Given the description of an element on the screen output the (x, y) to click on. 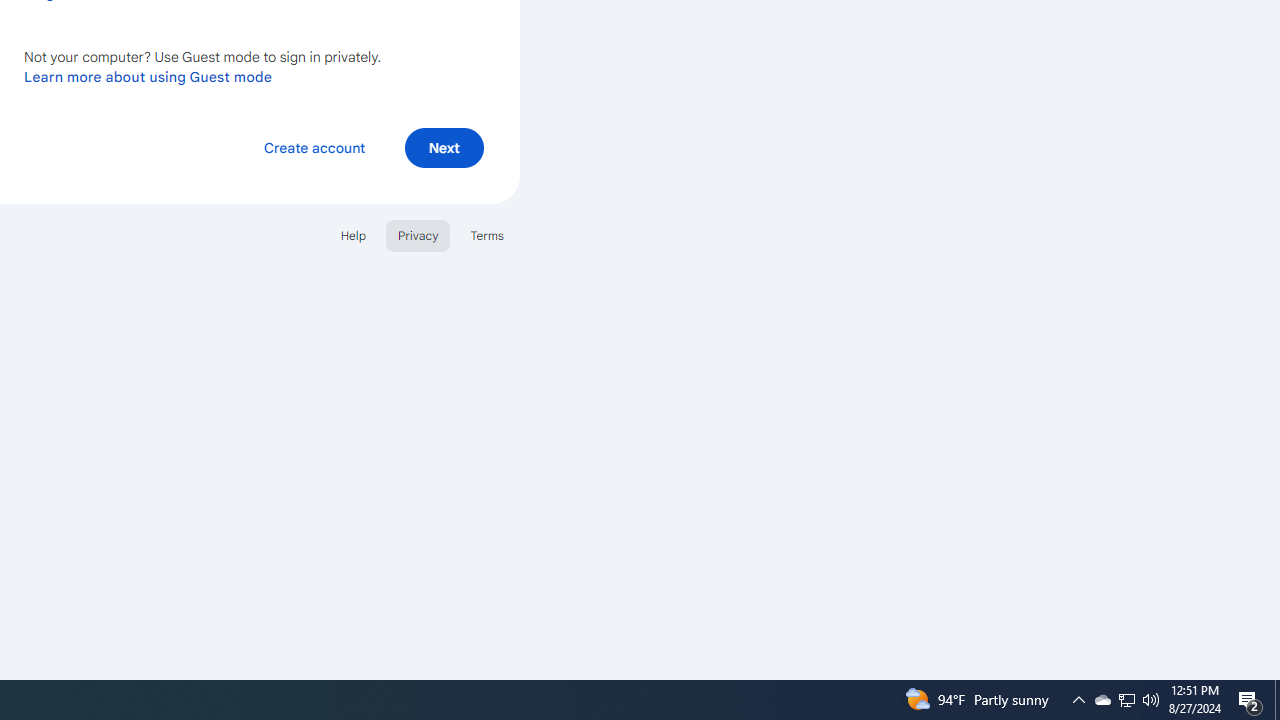
Help (352, 234)
Create account (314, 146)
Privacy (417, 234)
Learn more about using Guest mode (148, 76)
Next (443, 146)
Terms (486, 234)
